Given the description of an element on the screen output the (x, y) to click on. 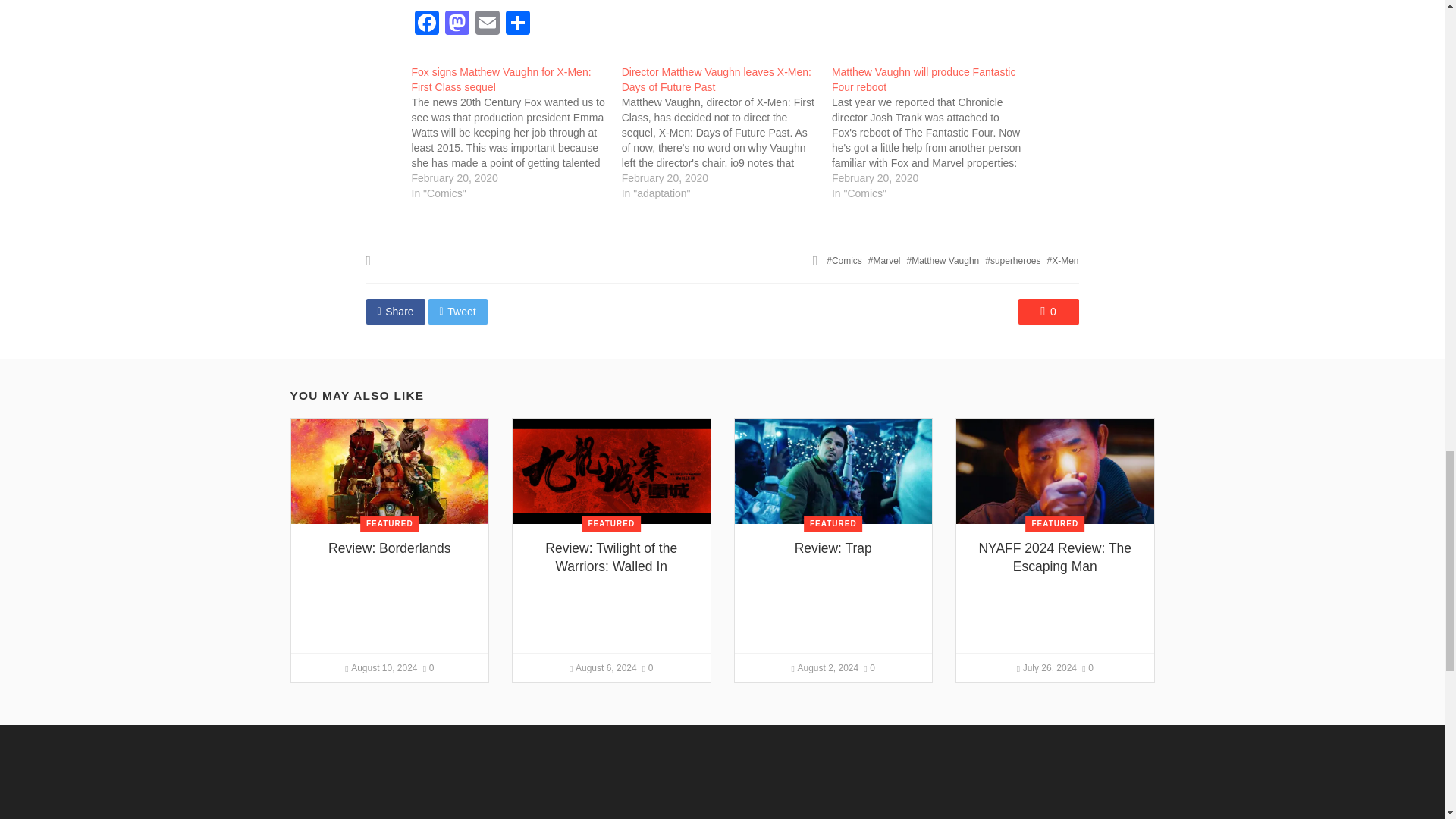
Fox signs Matthew Vaughn for X-Men: First Class sequel (500, 79)
Comics (844, 260)
Matthew Vaughn (941, 260)
Mastodon (456, 24)
Facebook (425, 24)
Facebook (425, 24)
Director Matthew Vaughn leaves X-Men: Days of Future Past (715, 79)
Director Matthew Vaughn leaves X-Men: Days of Future Past (715, 79)
superheroes (1013, 260)
Fox signs Matthew Vaughn for X-Men: First Class sequel (515, 132)
